Given the description of an element on the screen output the (x, y) to click on. 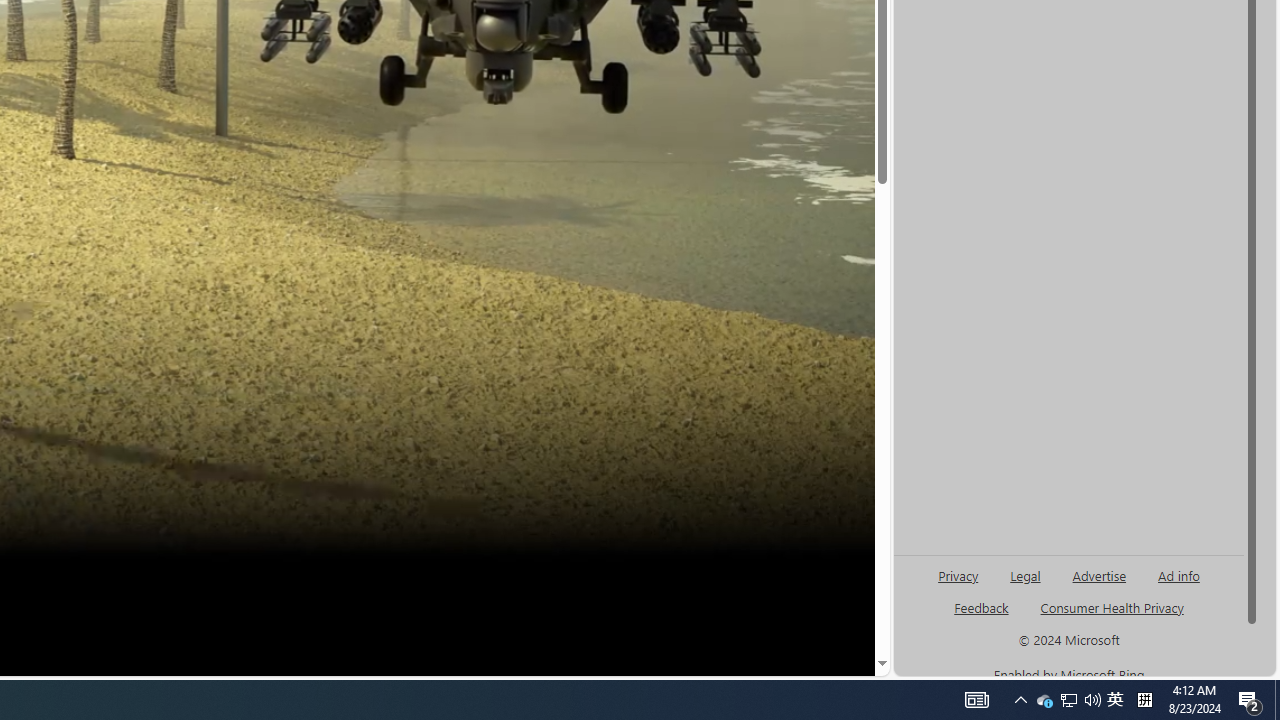
AutomationID: sb_feedback (980, 607)
AutomationID: genId96 (981, 615)
